Given the description of an element on the screen output the (x, y) to click on. 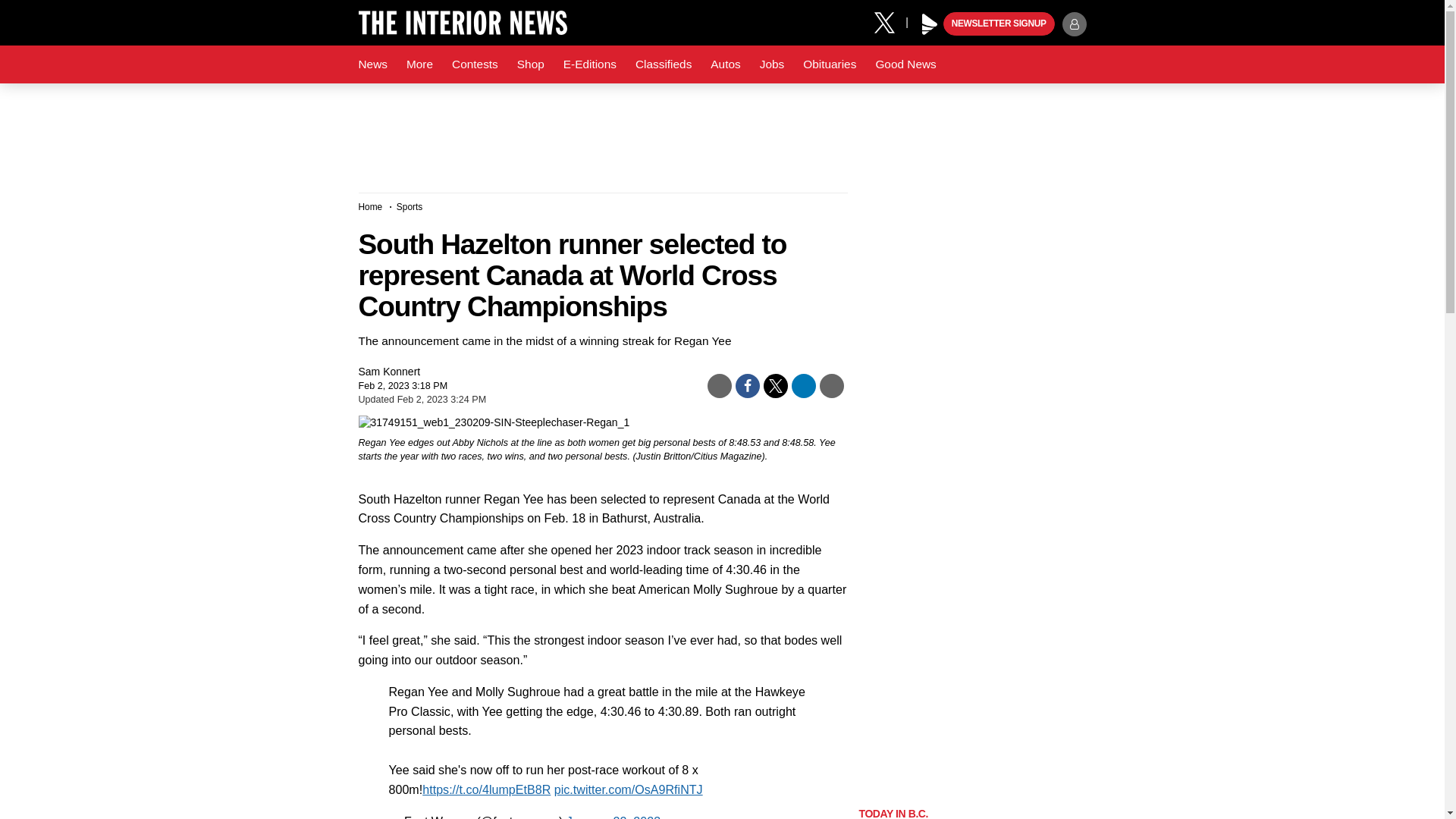
News (372, 64)
NEWSLETTER SIGNUP (998, 24)
X (889, 21)
Black Press Media (929, 24)
Play (929, 24)
